Given the description of an element on the screen output the (x, y) to click on. 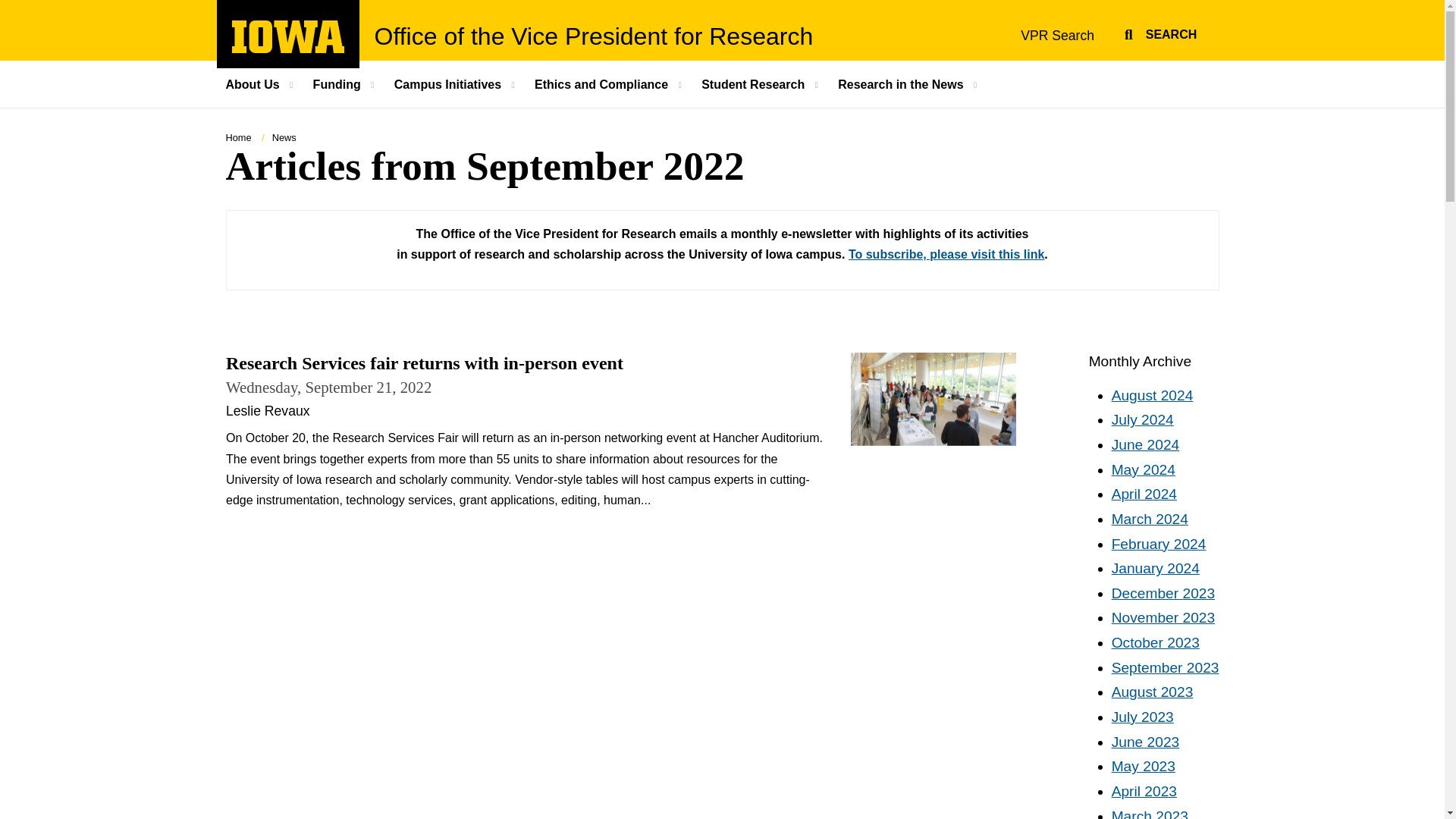
SEARCH (1157, 32)
Research Services Fair (933, 398)
Office of the Vice President for Research (593, 36)
University of Iowa (288, 36)
VPR Search (1056, 34)
About the UI Office of the Vice President for Research (261, 83)
Skip to main content (288, 48)
